Given the description of an element on the screen output the (x, y) to click on. 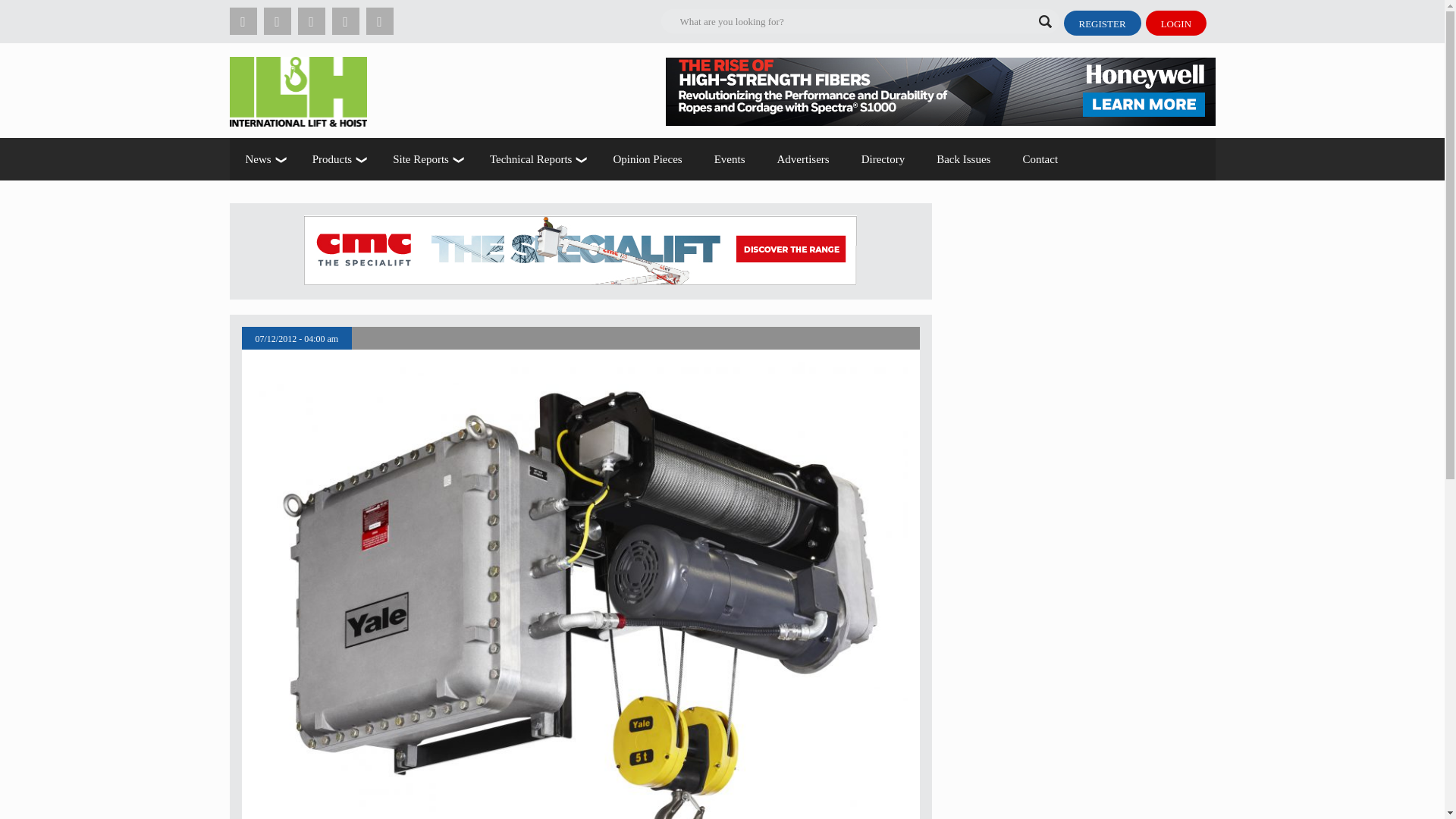
News (261, 159)
Site Reports (425, 159)
Products (337, 159)
Search (198, 12)
REGISTER (1101, 23)
LOGIN (1176, 23)
